Given the description of an element on the screen output the (x, y) to click on. 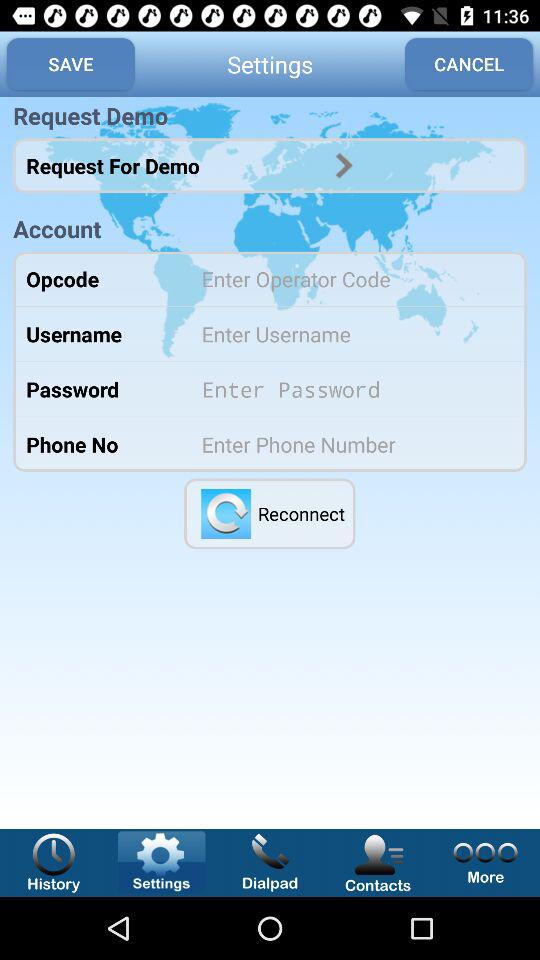
go to code option (350, 278)
